Given the description of an element on the screen output the (x, y) to click on. 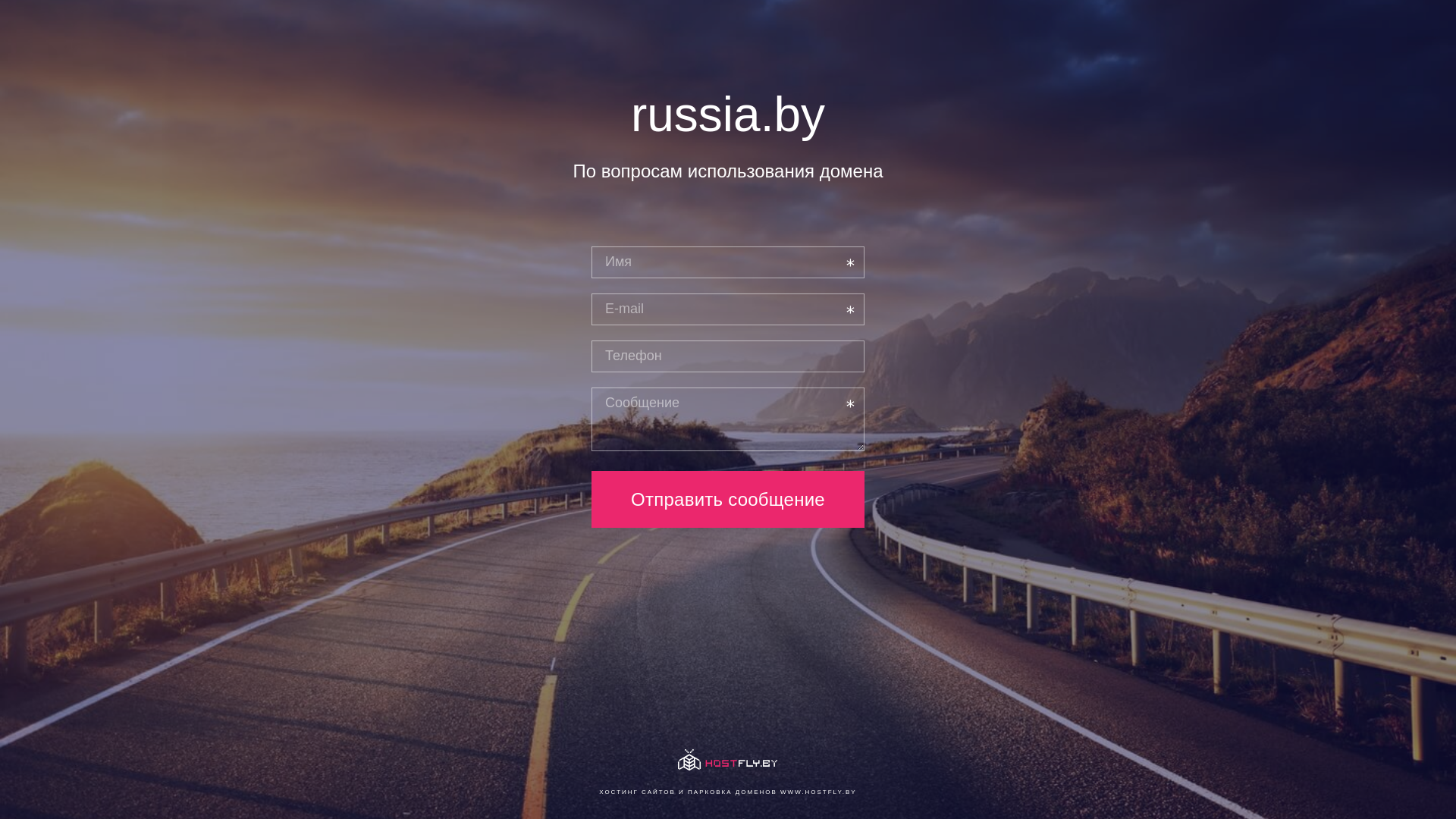
WWW.HOSTFLY.BY Element type: text (818, 791)
